Given the description of an element on the screen output the (x, y) to click on. 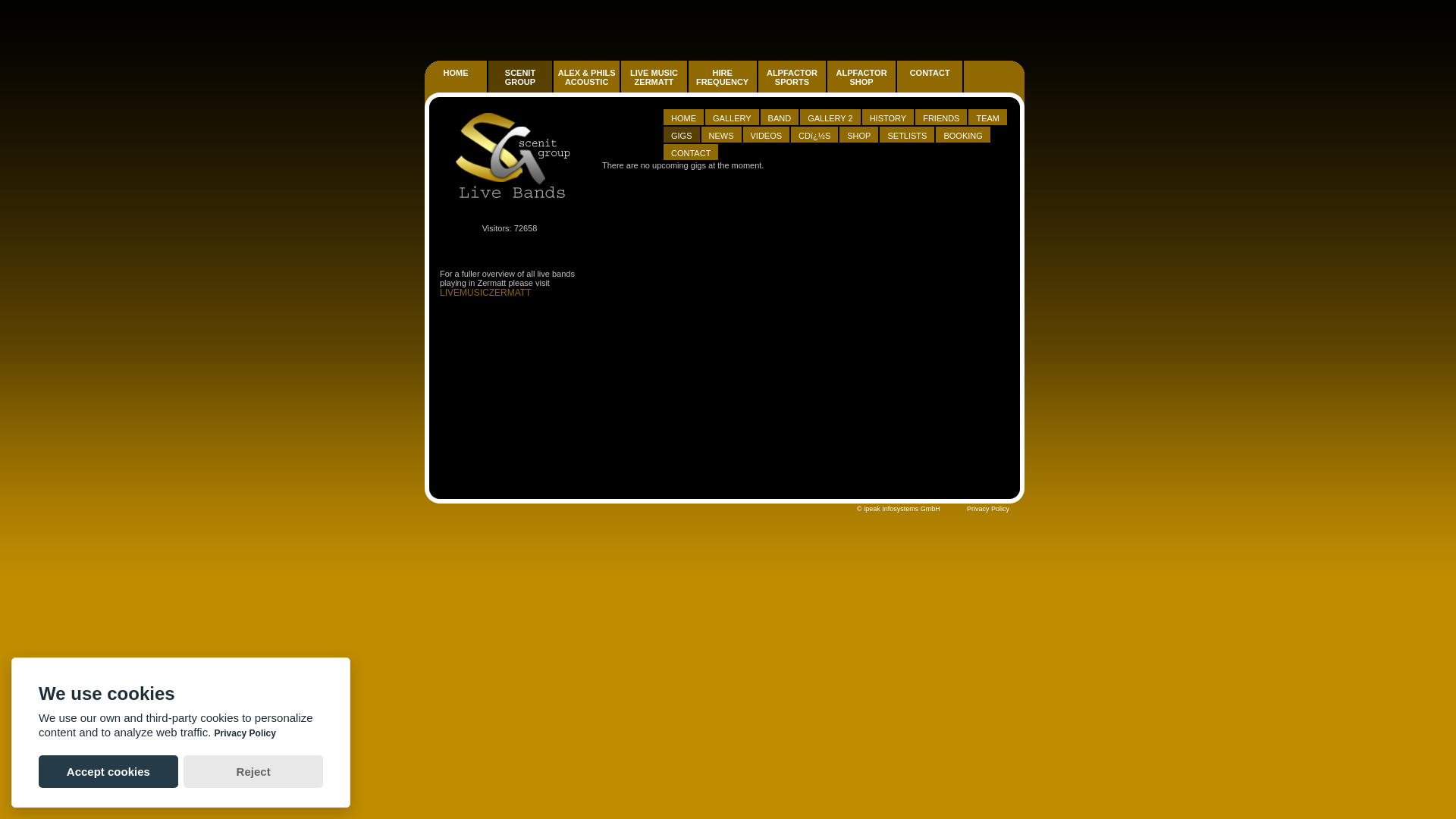
CONTACT Element type: text (930, 72)
NEWS Element type: text (721, 135)
ALPFACTOR
SPORTS Element type: text (791, 77)
Accept cookies Element type: text (108, 771)
HOME Element type: text (683, 117)
FRIENDS Element type: text (941, 117)
Privacy Policy Element type: text (245, 733)
Privacy Policy Element type: text (987, 508)
GIGS Element type: text (681, 135)
Reject Element type: text (253, 771)
VIDEOS Element type: text (766, 134)
SETLISTS Element type: text (907, 134)
HISTORY Element type: text (888, 117)
ALPFACTOR
SHOP Element type: text (862, 84)
TEAM Element type: text (987, 117)
TEAM Element type: text (987, 117)
NEWS Element type: text (721, 134)
BOOKING Element type: text (962, 135)
SHOP Element type: text (858, 135)
BOOKING Element type: text (962, 134)
SETLISTS Element type: text (906, 135)
HIRE
FREQUENCY Element type: text (723, 84)
GALLERY Element type: text (732, 117)
SHOP Element type: text (858, 134)
GALLERY 2 Element type: text (830, 117)
ALPFACTOR
SPORTS Element type: text (793, 84)
LIVE MUSIC
ZERMATT Element type: text (653, 77)
CONTACT Element type: text (690, 152)
VIDEOS Element type: text (766, 135)
HISTORY Element type: text (887, 117)
CONTACT Element type: text (930, 84)
ALEX & PHILS
ACOUSTIC Element type: text (586, 77)
HOME Element type: text (683, 117)
LIVE MUSIC
ZERMATT Element type: text (654, 84)
ALPFACTOR
SHOP Element type: text (861, 77)
BAND Element type: text (779, 117)
SCENIT
GROUP Element type: text (520, 84)
SCENIT
GROUP Element type: text (520, 77)
GALLERY Element type: text (731, 117)
HOME Element type: text (456, 84)
HIRE
FREQUENCY Element type: text (722, 77)
FRIENDS Element type: text (940, 117)
BAND Element type: text (780, 117)
GALLERY 2 Element type: text (830, 117)
CONTACT Element type: text (690, 152)
HOME Element type: text (455, 72)
LIVEMUSICZERMATT Element type: text (484, 292)
GIGS Element type: text (681, 134)
